Given the description of an element on the screen output the (x, y) to click on. 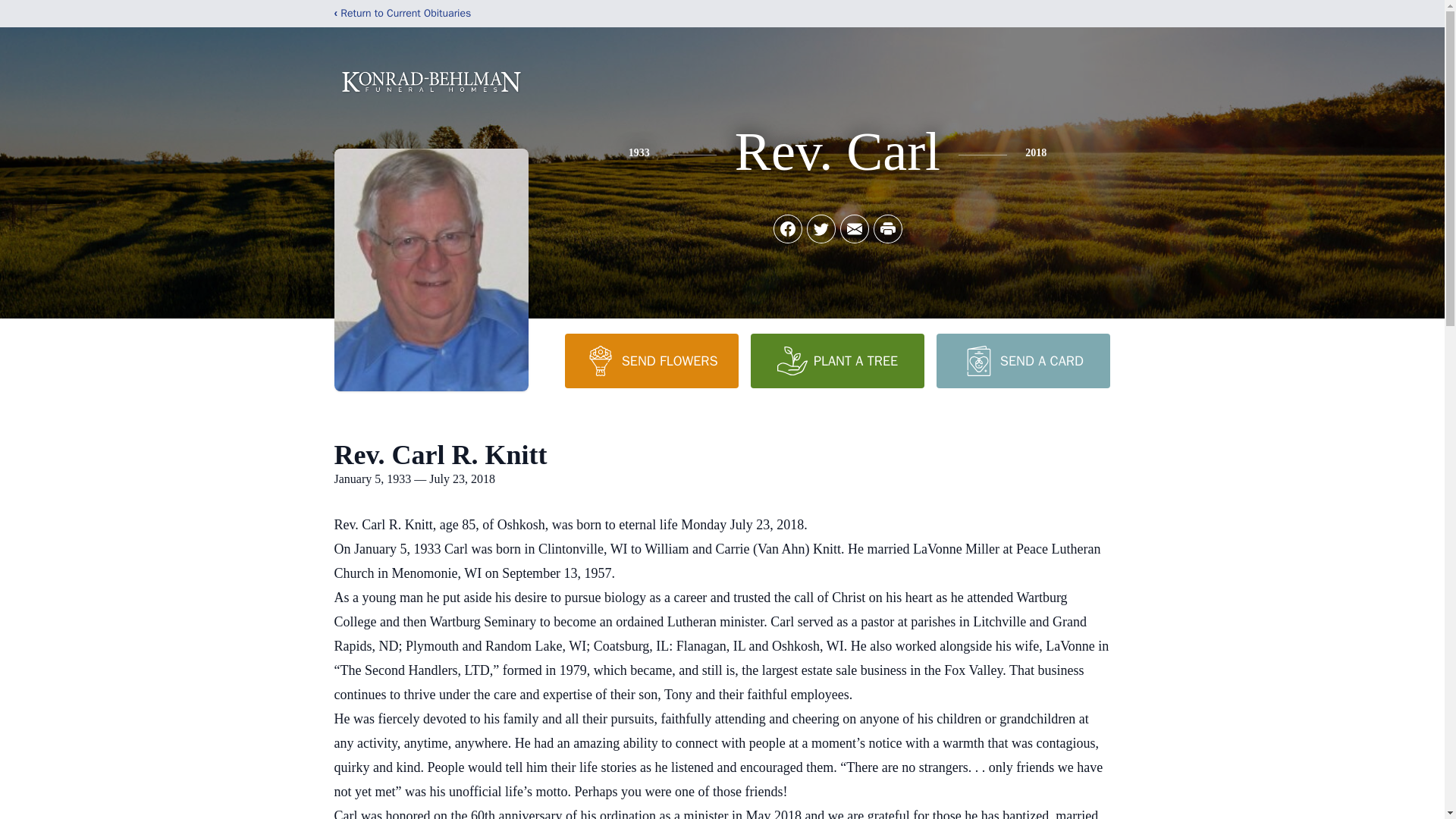
SEND A CARD (1022, 360)
SEND FLOWERS (651, 360)
PLANT A TREE (837, 360)
